Given the description of an element on the screen output the (x, y) to click on. 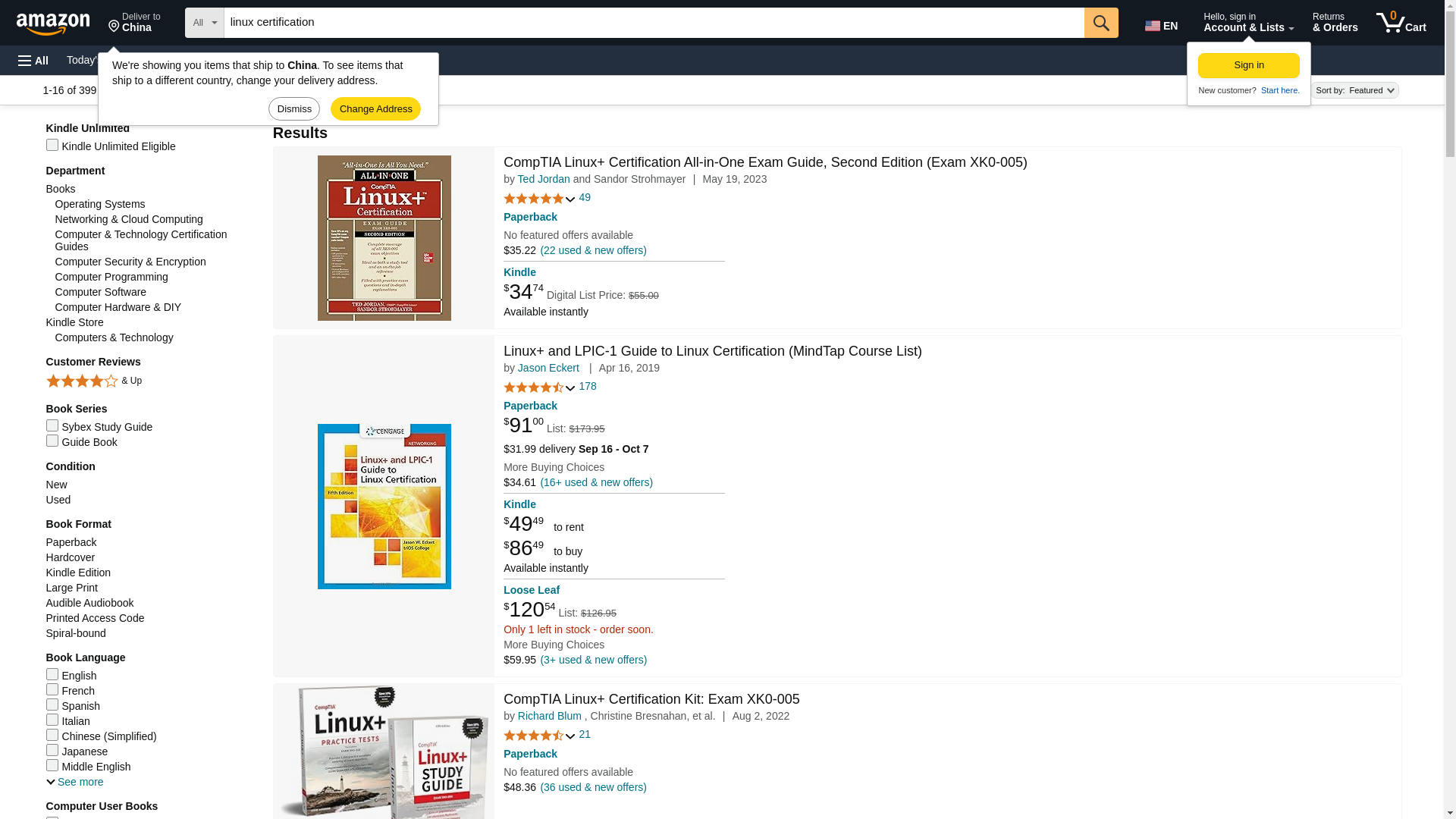
linux certification (654, 22)
Customer Service (134, 22)
Gift Cards (192, 59)
Sign in (1401, 22)
Sell (333, 59)
All (1249, 65)
Today's Deals (384, 59)
EN (33, 60)
